Given the description of an element on the screen output the (x, y) to click on. 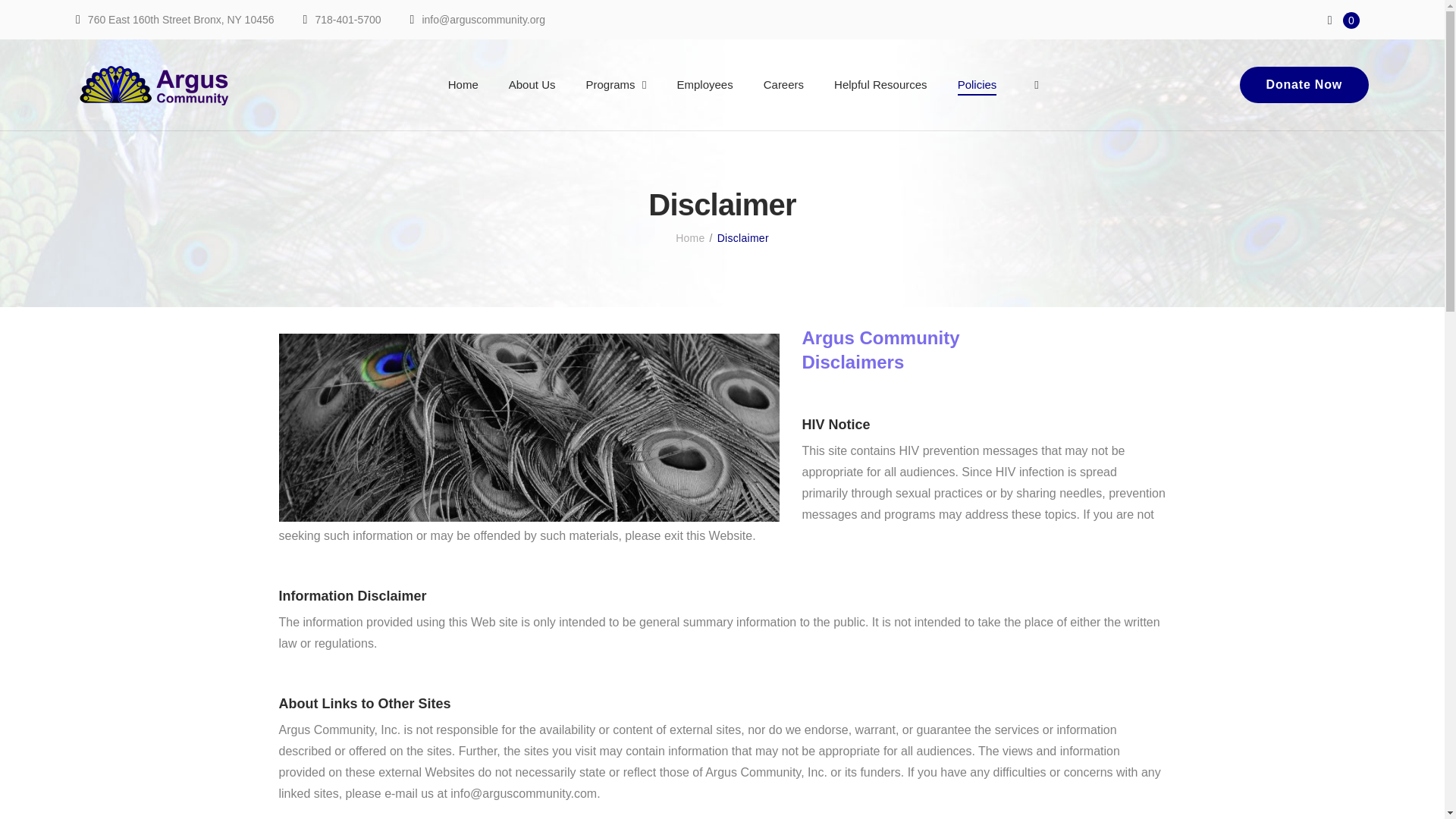
About Us (532, 84)
Home (463, 84)
View your shopping cart (1347, 18)
Home (689, 237)
Programs (609, 84)
718-401-5700 (347, 19)
